Given the description of an element on the screen output the (x, y) to click on. 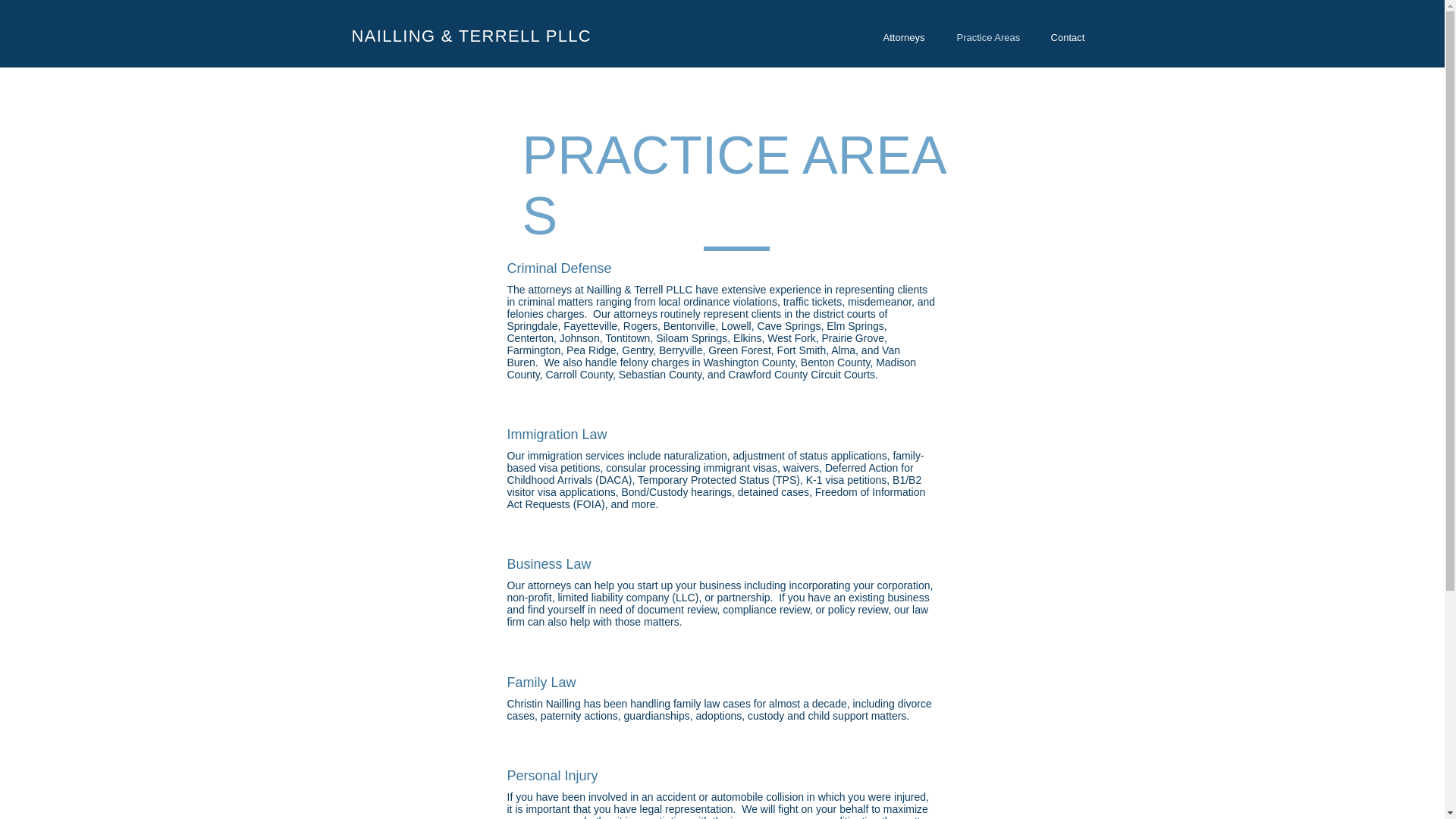
Attorneys (903, 36)
Contact (1066, 36)
Practice Areas (988, 36)
